Given the description of an element on the screen output the (x, y) to click on. 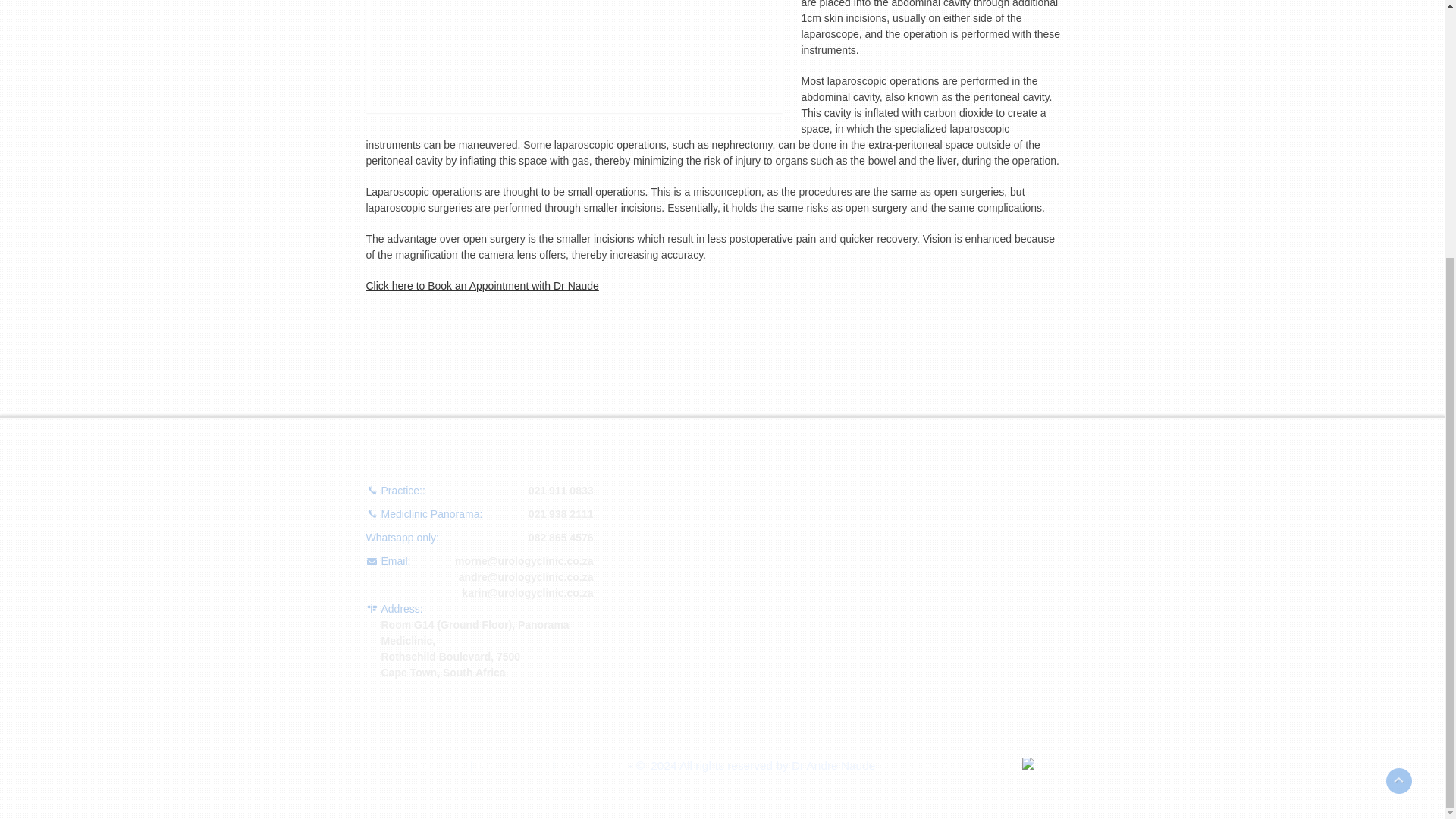
PAIA Manual (592, 765)
Click here to Book an Appointment with Dr Naude (481, 285)
Medical Website Design by (957, 765)
Privacy Policy (512, 765)
Laparoscopic Surgery (573, 56)
